Given the description of an element on the screen output the (x, y) to click on. 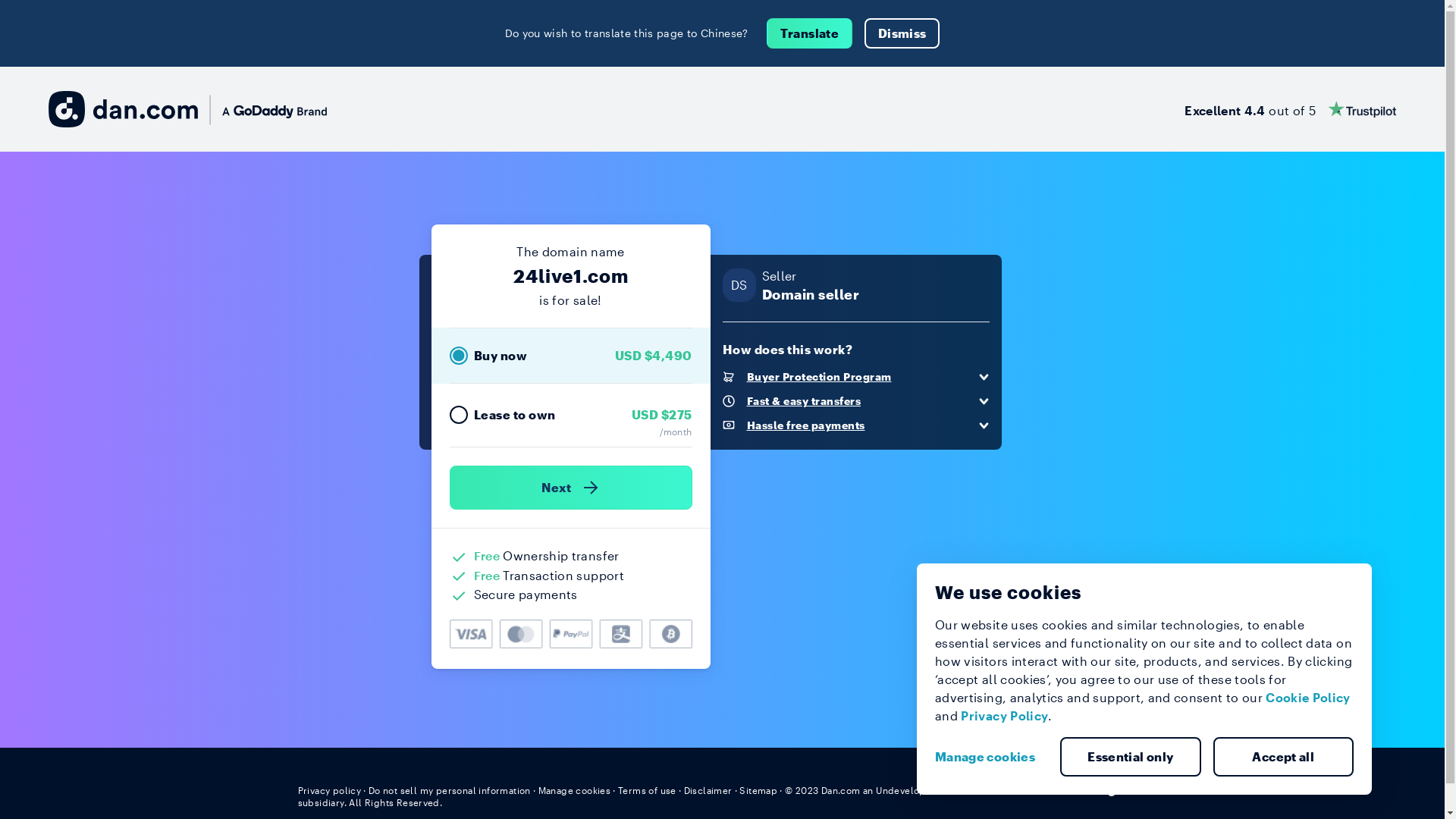
Dismiss Element type: text (901, 33)
Cookie Policy Element type: text (1307, 697)
Excellent 4.4 out of 5 Element type: text (1290, 109)
Terms of use Element type: text (647, 789)
Translate Element type: text (809, 33)
English Element type: text (1119, 789)
Privacy policy Element type: text (328, 789)
Manage cookies Element type: text (574, 790)
Sitemap Element type: text (758, 789)
Privacy Policy Element type: text (1004, 715)
Manage cookies Element type: text (991, 756)
Do not sell my personal information Element type: text (449, 789)
Disclaimer Element type: text (708, 789)
Essential only Element type: text (1130, 756)
Accept all Element type: text (1283, 756)
Next
) Element type: text (569, 487)
